Given the description of an element on the screen output the (x, y) to click on. 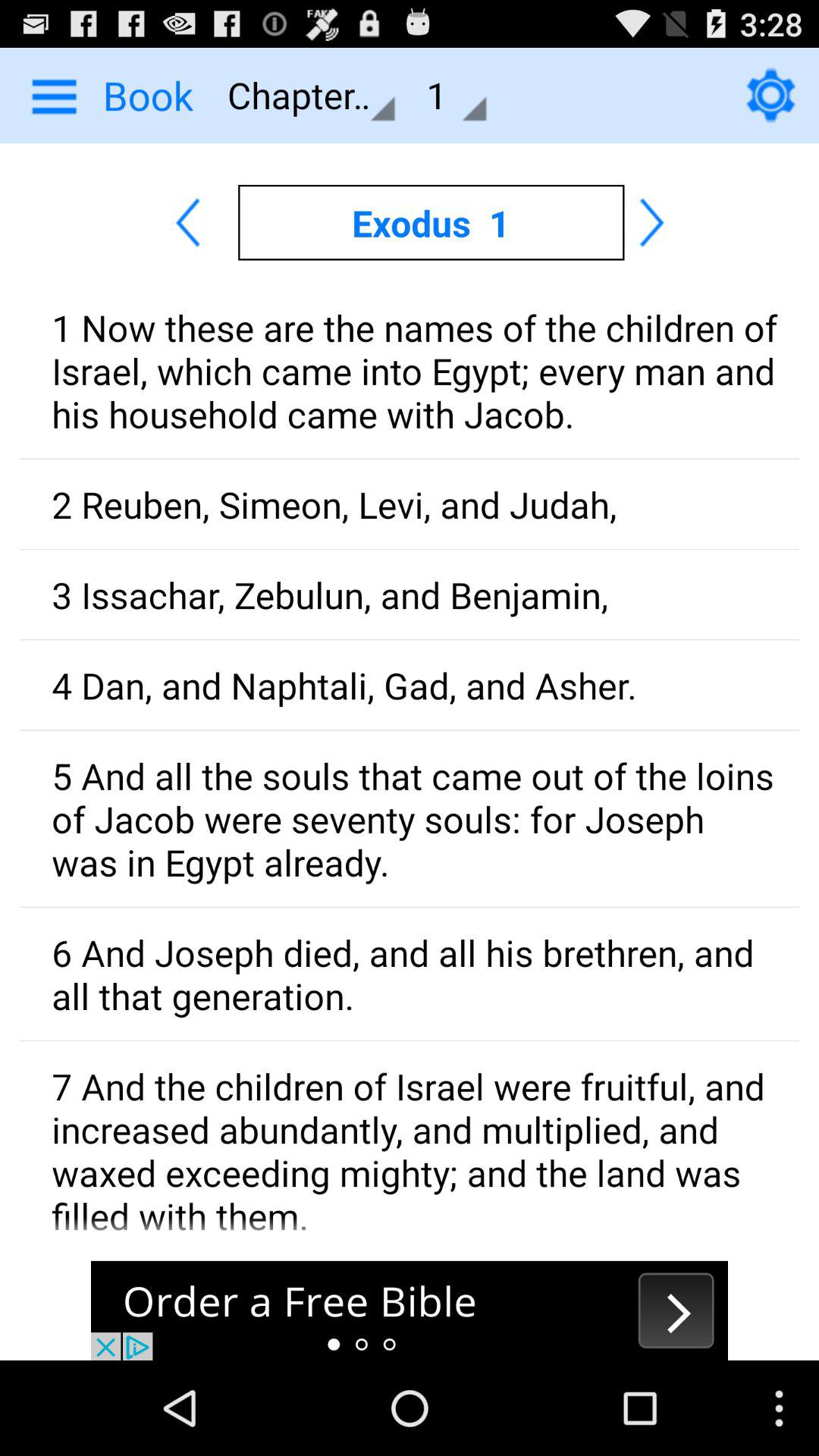
click to settings option (770, 95)
